Given the description of an element on the screen output the (x, y) to click on. 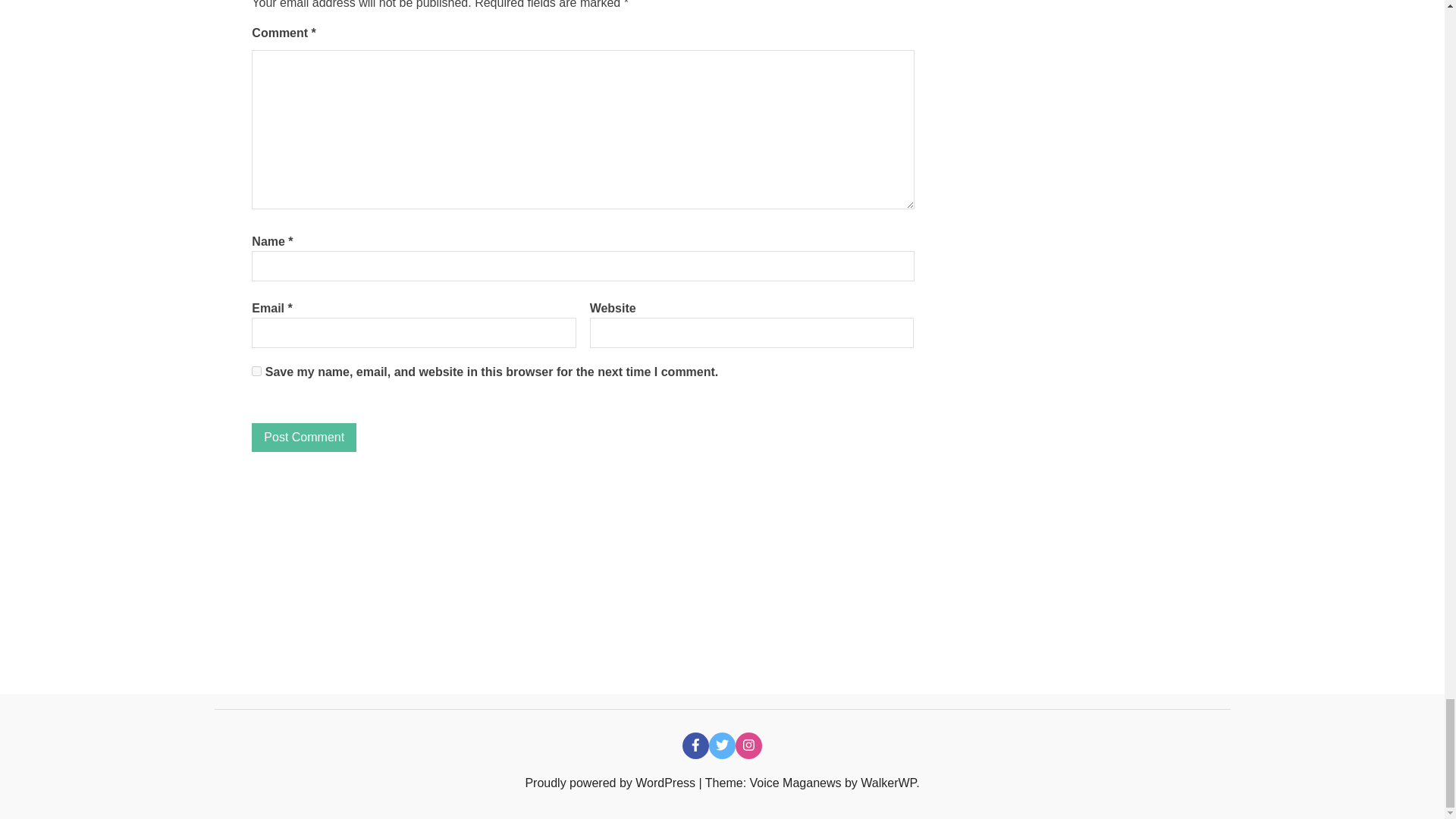
Post Comment (303, 437)
yes (256, 370)
